Given the description of an element on the screen output the (x, y) to click on. 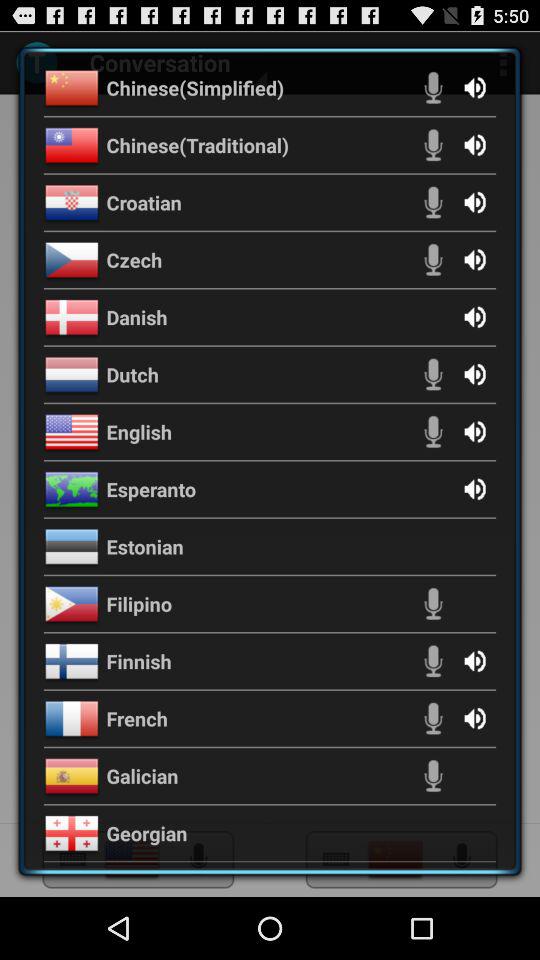
turn on croatian (143, 202)
